Given the description of an element on the screen output the (x, y) to click on. 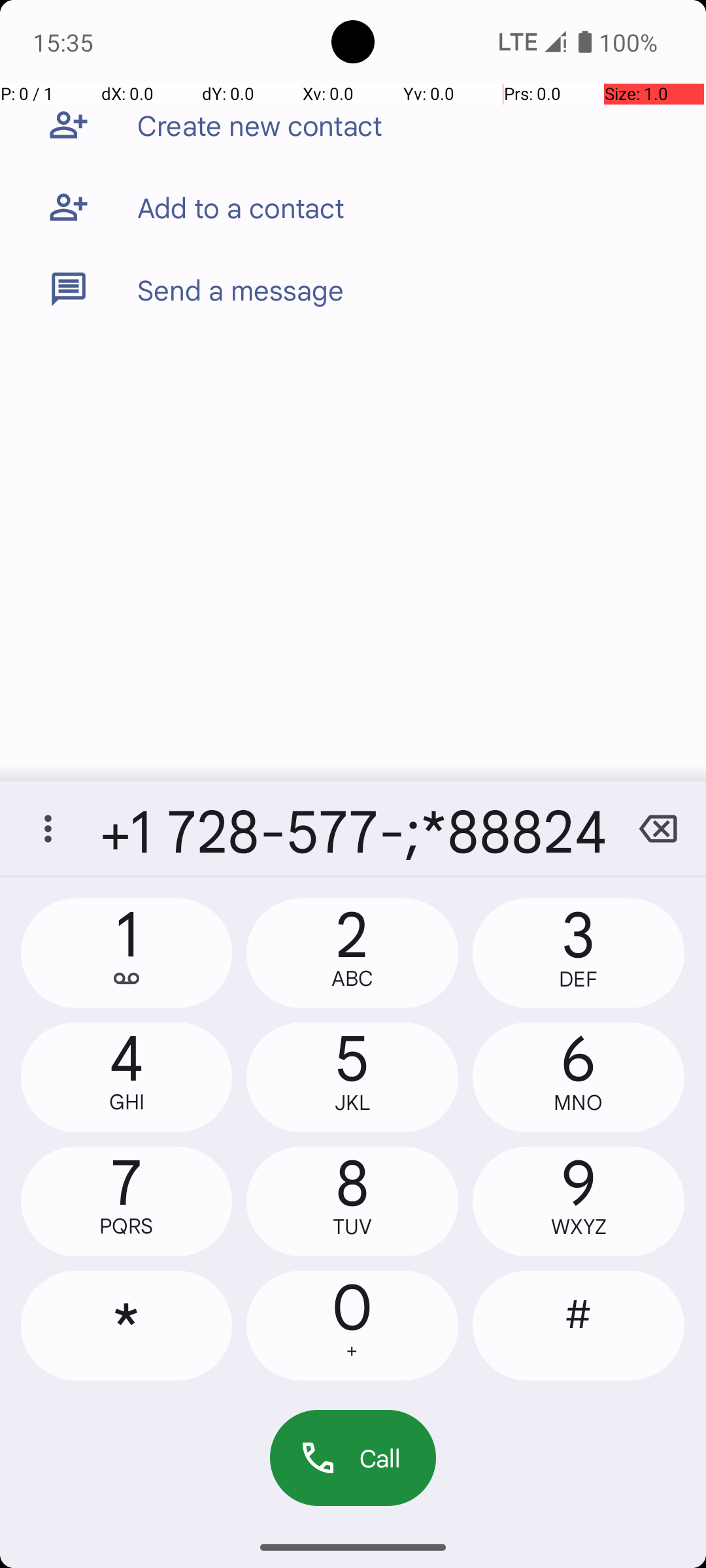
+1 728-577-;*88824 Element type: android.widget.EditText (352, 828)
